Given the description of an element on the screen output the (x, y) to click on. 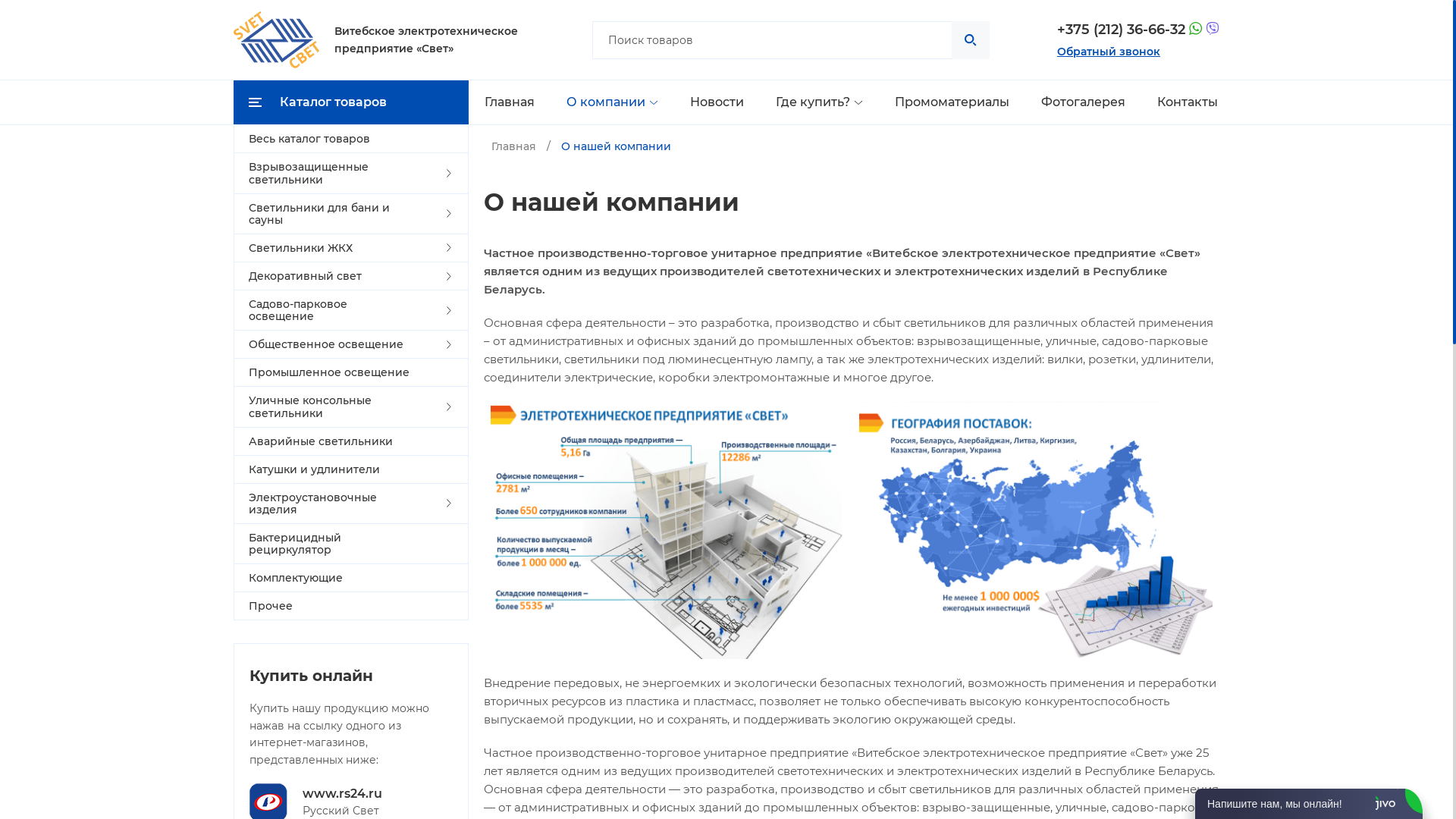
+375 (212) 36-66-32 Element type: text (1121, 29)
www.rs24.ru Element type: text (342, 793)
